Given the description of an element on the screen output the (x, y) to click on. 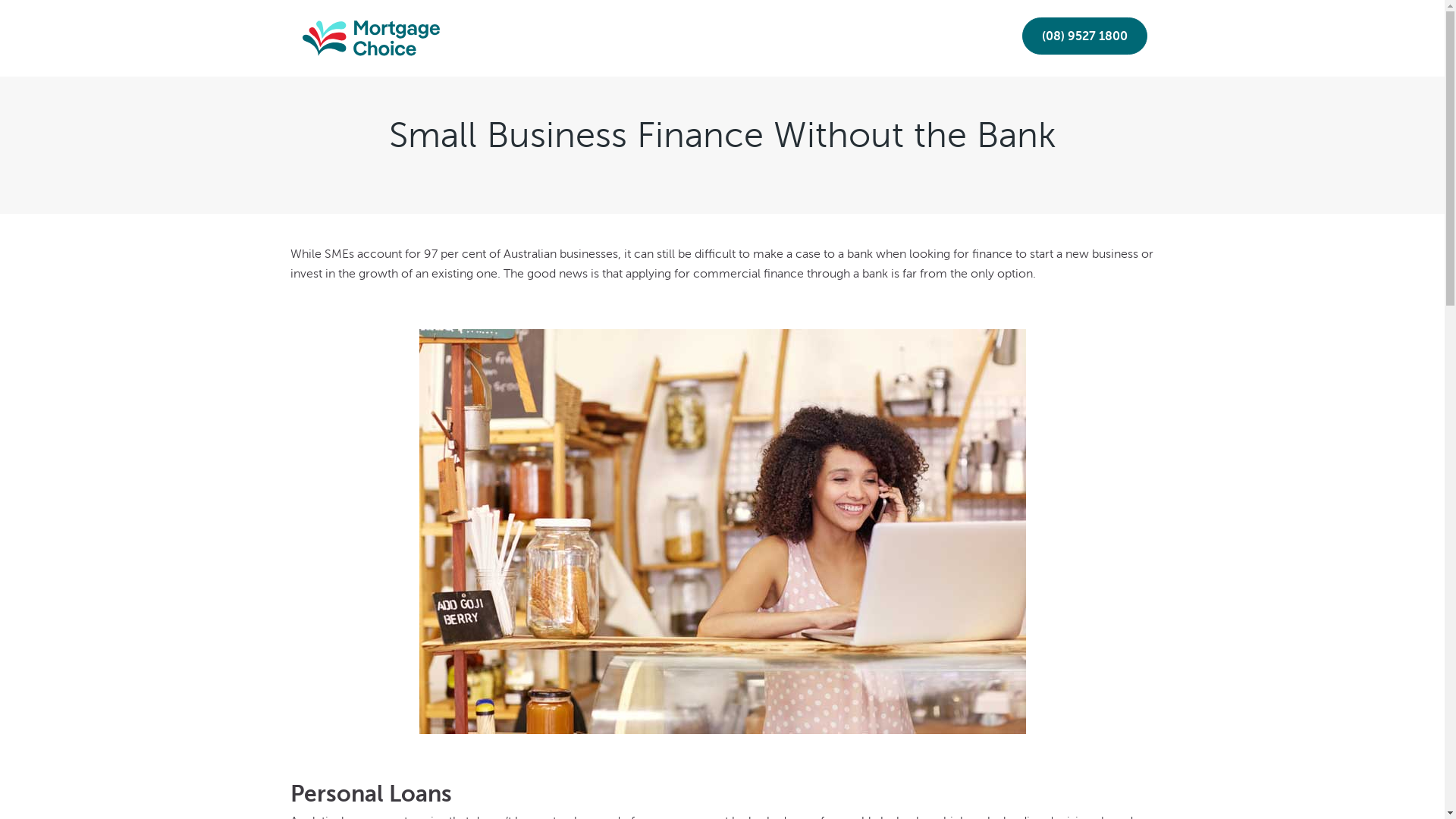
MORTGAGE CHOICE ROCKINGHAM Element type: text (362, 28)
Skip to main content Element type: text (0, 0)
(08) 9527 1800 Element type: text (1084, 35)
